Given the description of an element on the screen output the (x, y) to click on. 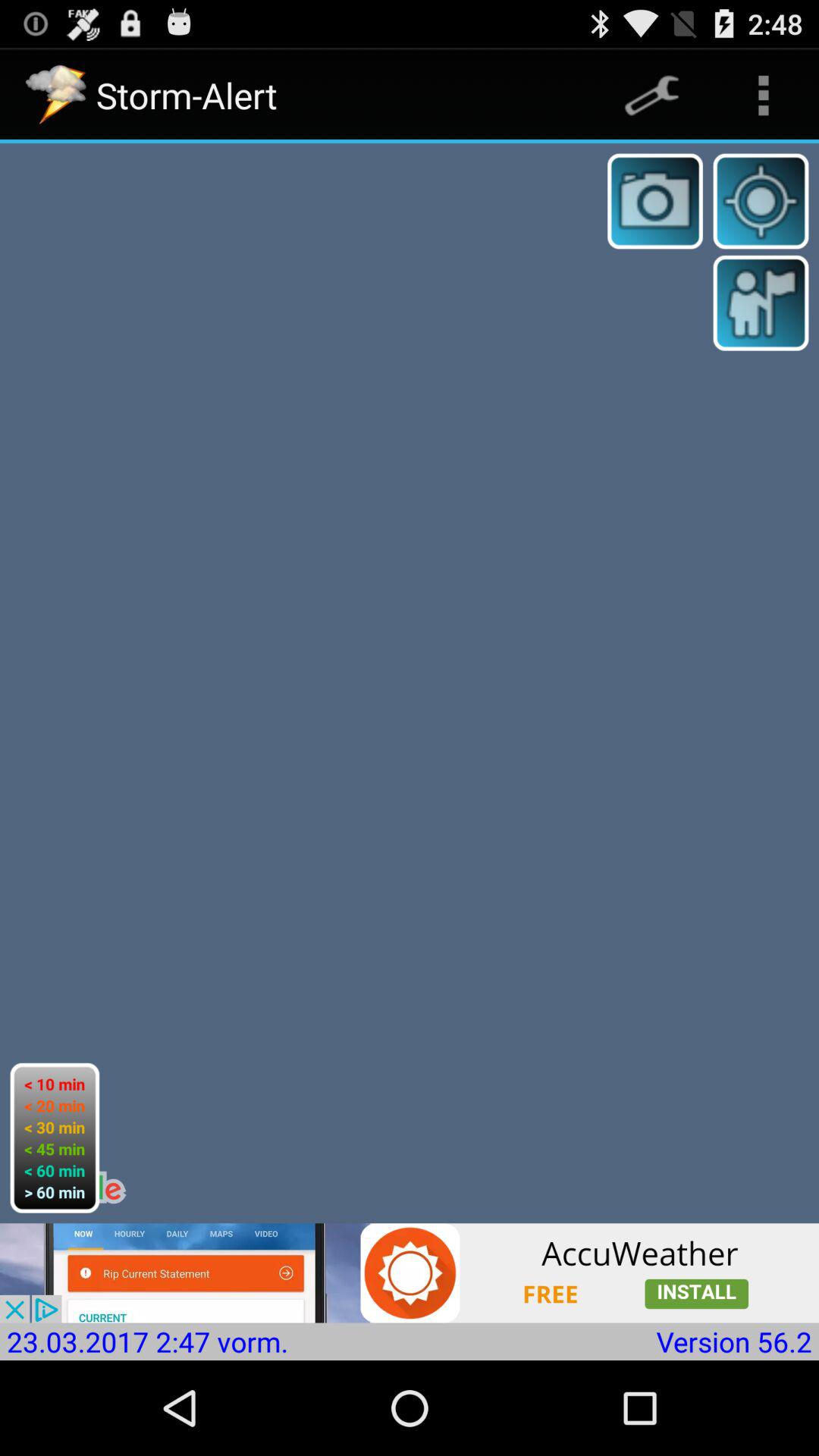
take a picture (654, 201)
